Given the description of an element on the screen output the (x, y) to click on. 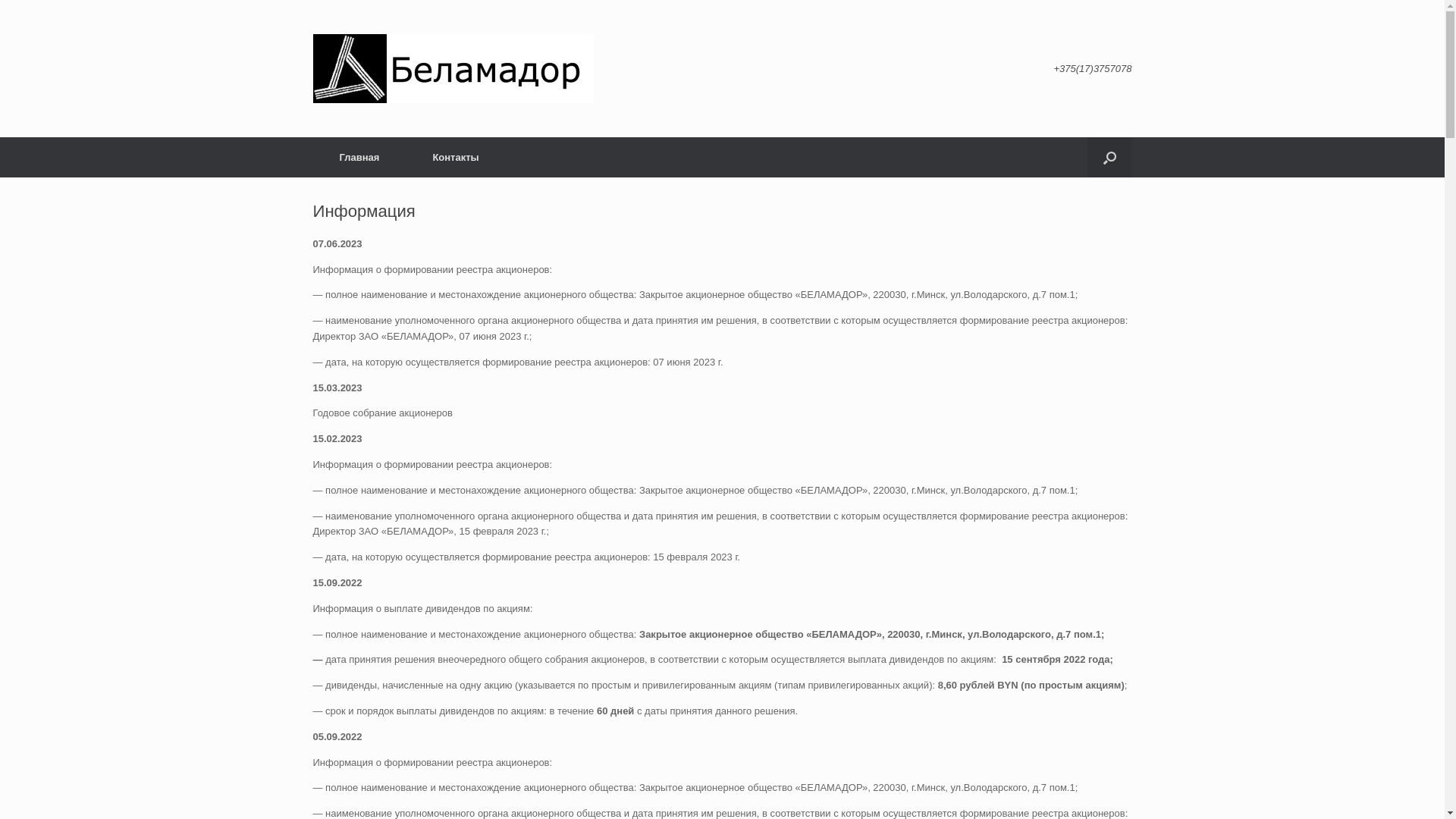
Belamador Element type: hover (452, 68)
